Given the description of an element on the screen output the (x, y) to click on. 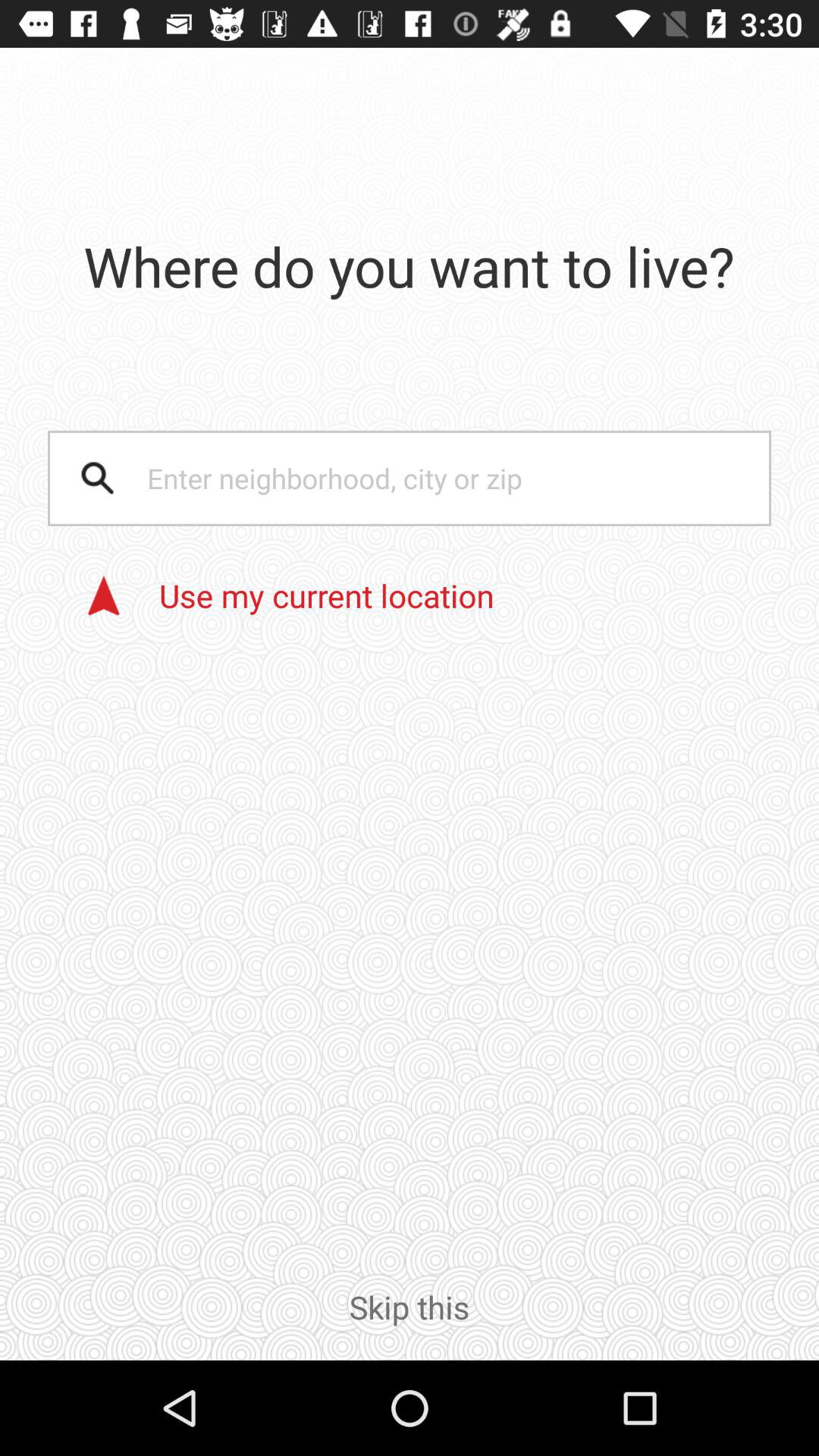
scroll until skip this (409, 1322)
